Given the description of an element on the screen output the (x, y) to click on. 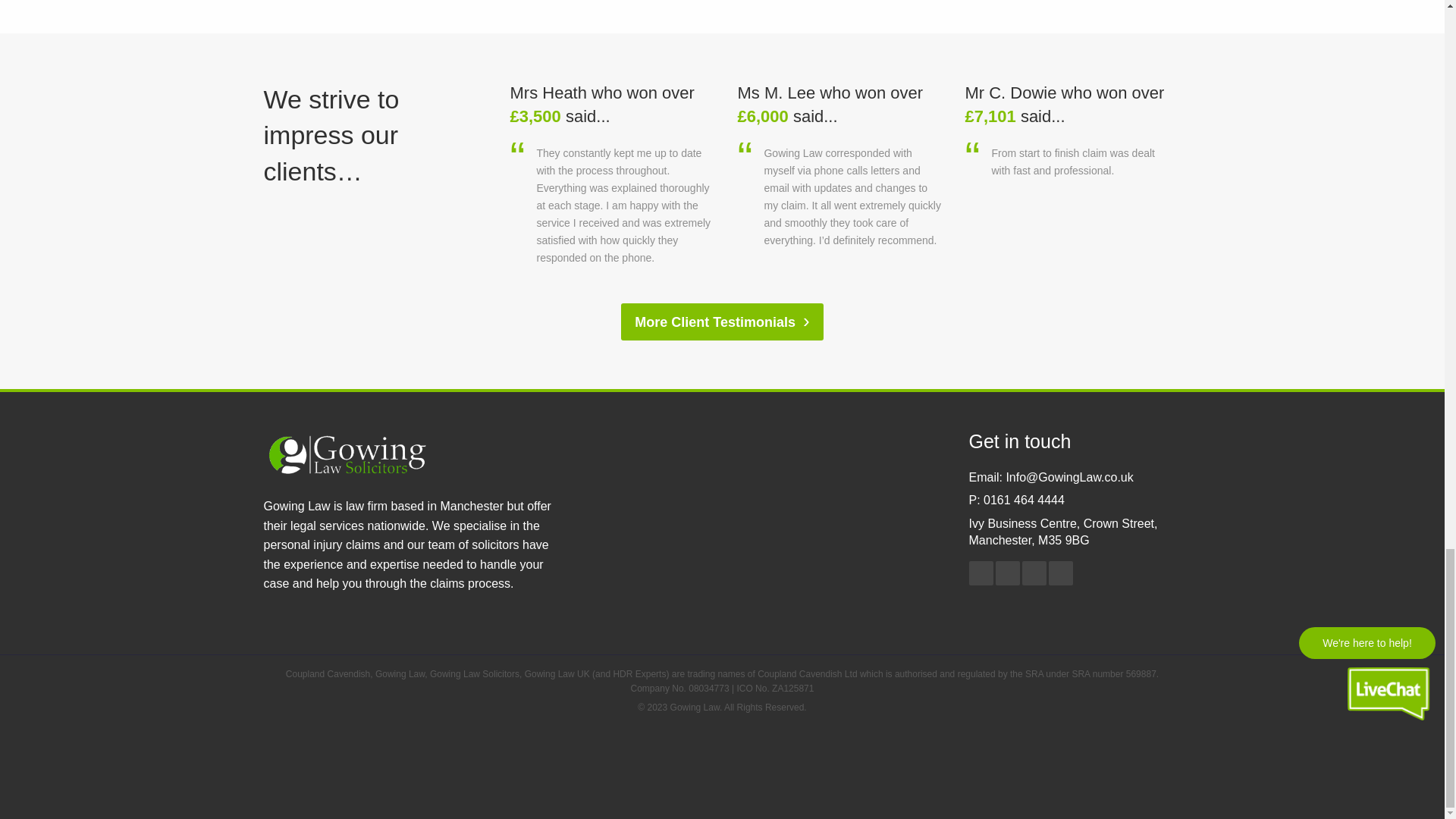
LinkedIn (1006, 573)
YouTube (1059, 573)
Facebook (980, 573)
Twitter (1034, 573)
